Given the description of an element on the screen output the (x, y) to click on. 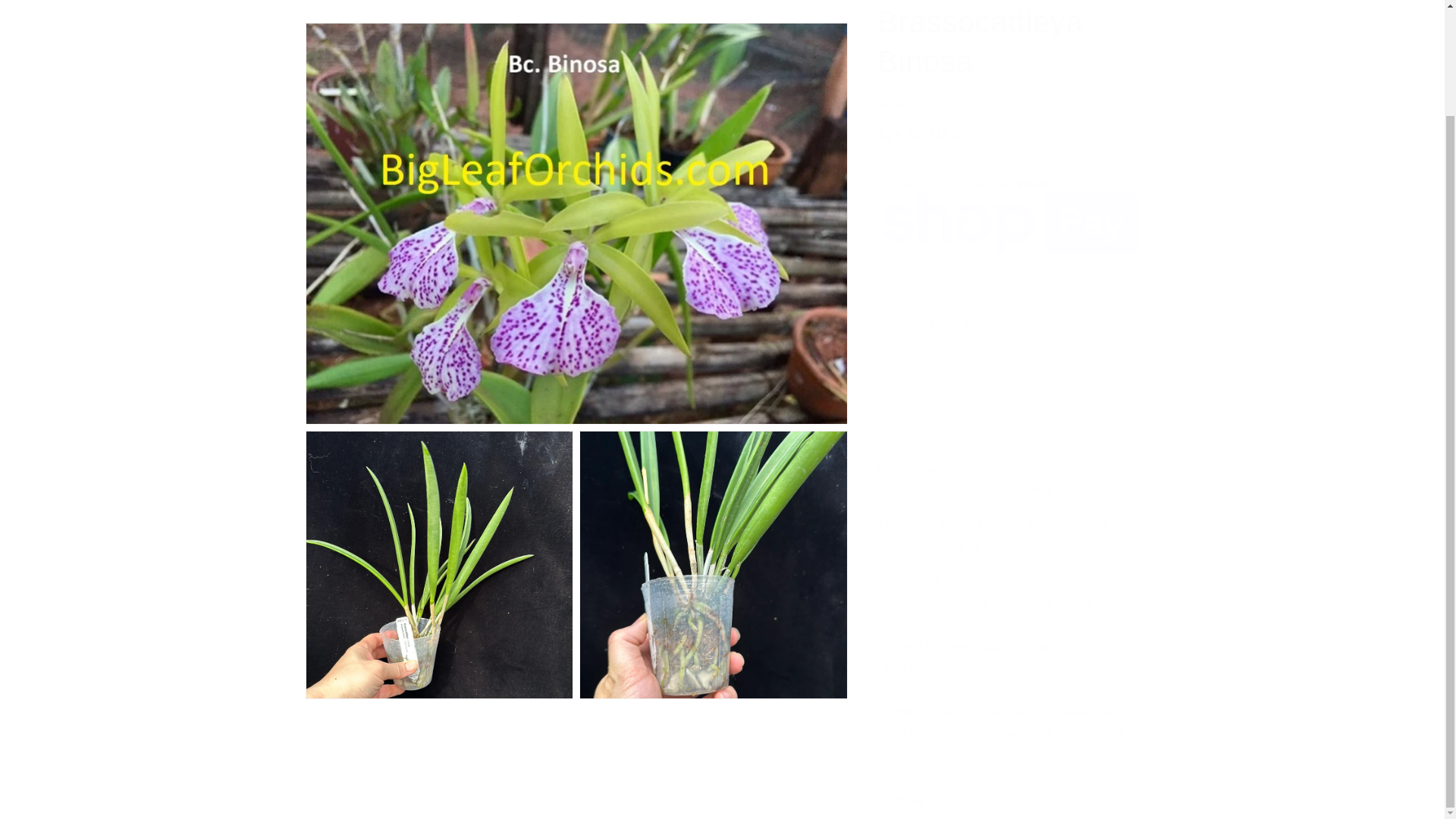
Open media 3 in modal (713, 508)
Open media 2 in modal (438, 508)
1 (931, 312)
